Given the description of an element on the screen output the (x, y) to click on. 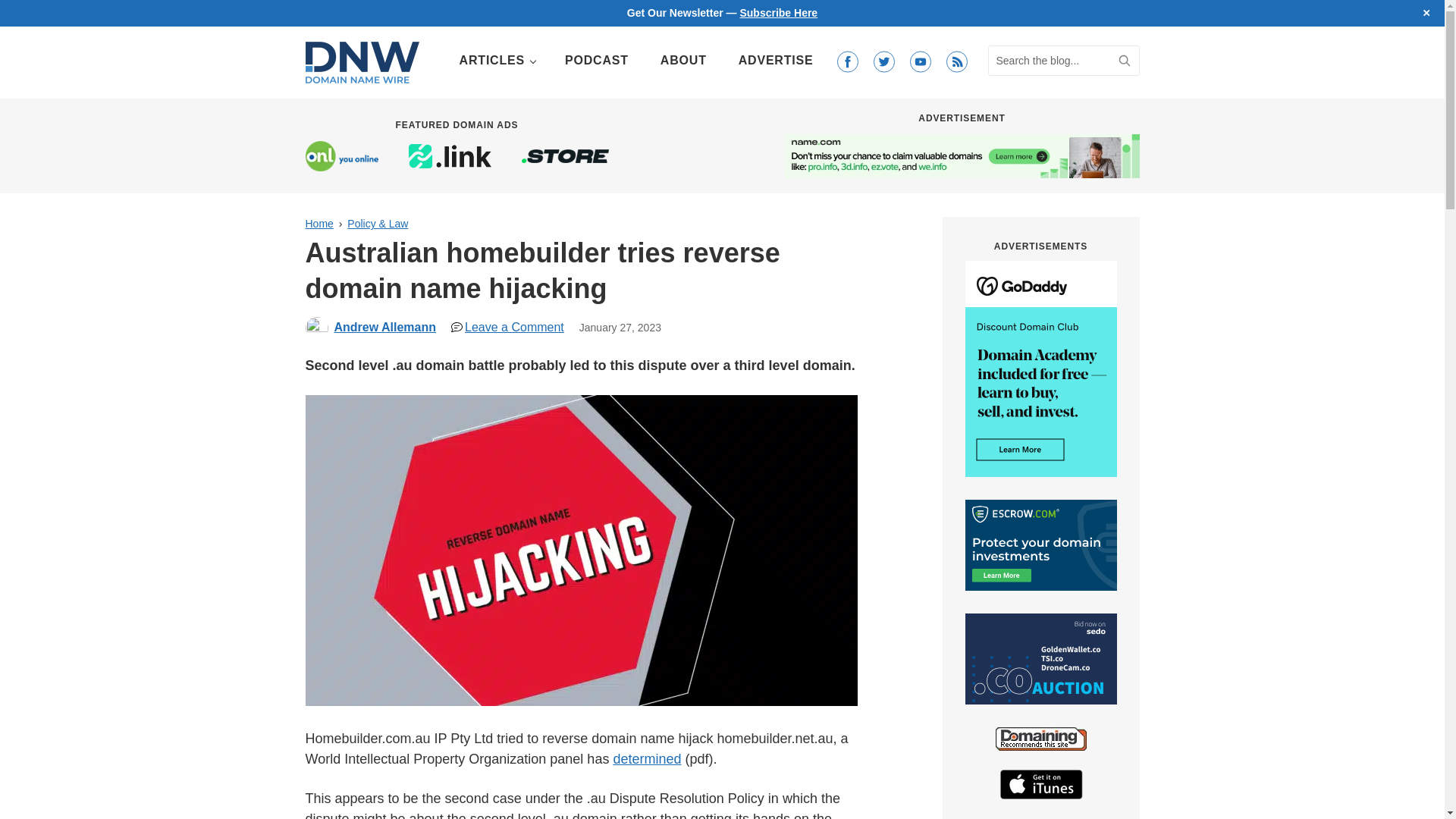
Leave a Comment (507, 327)
ABOUT (683, 60)
Home (318, 223)
determined (646, 758)
ADVERTISE (775, 60)
Andrew Allemann (384, 327)
Subscribe Here (777, 12)
ARTICLES (495, 60)
Submit search (1123, 60)
Submit search (1123, 60)
Submit search (1123, 60)
PODCAST (596, 60)
